Given the description of an element on the screen output the (x, y) to click on. 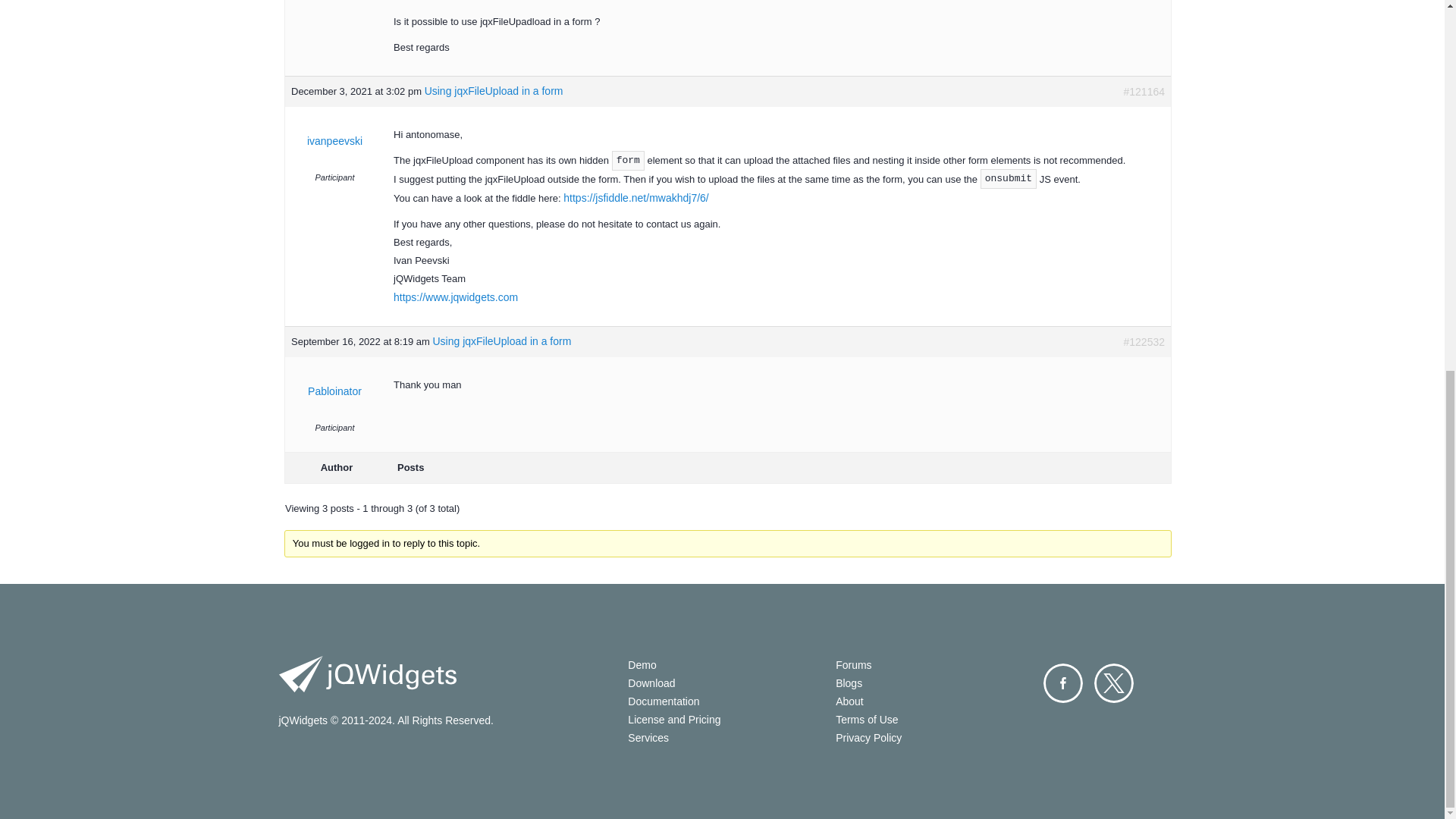
View Pabloinator's profile (334, 391)
ivanpeevski (334, 140)
View ivanpeevski's profile (334, 140)
Using jqxFileUpload in a form (523, 83)
